Given the description of an element on the screen output the (x, y) to click on. 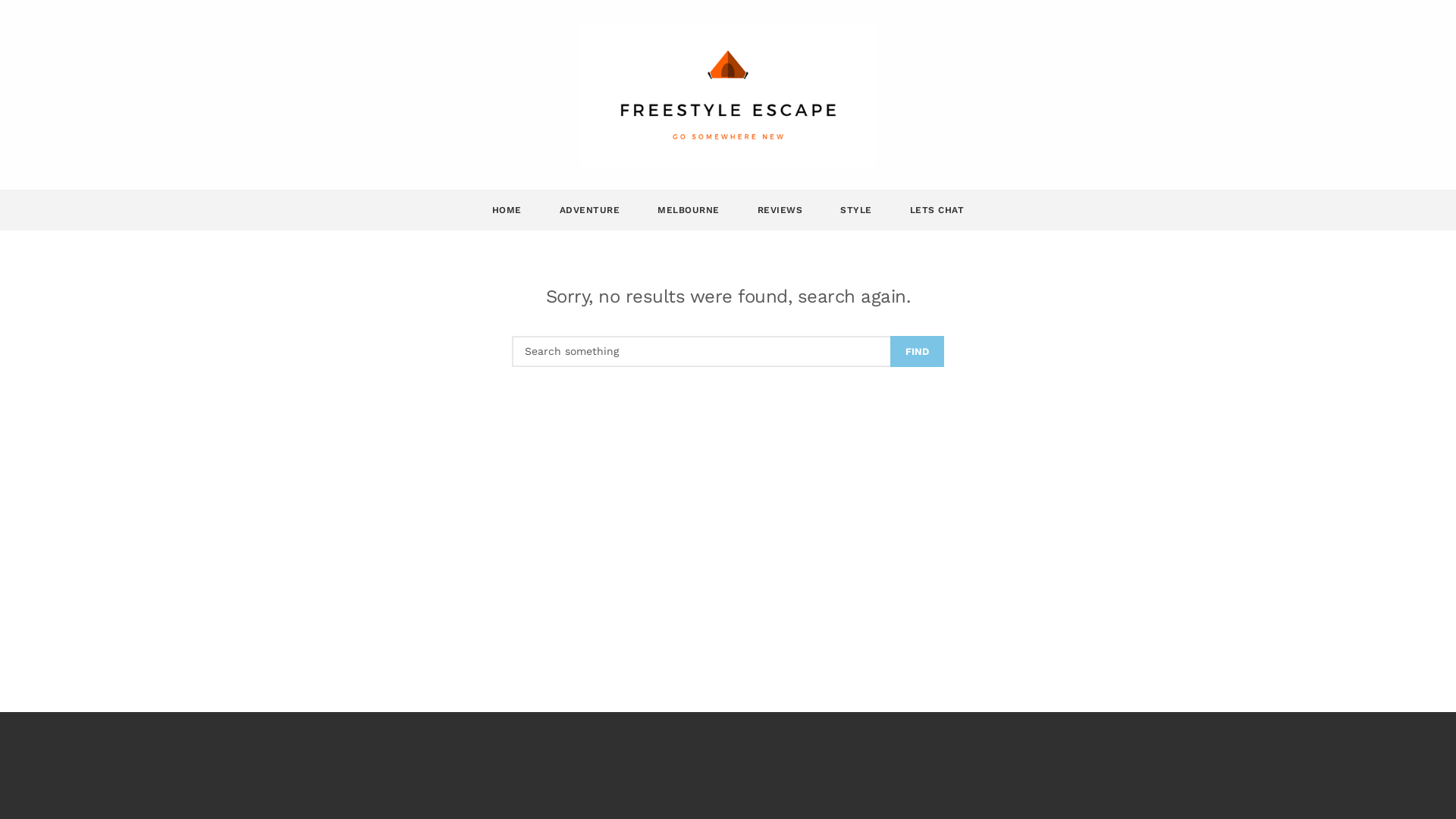
FIND Element type: text (917, 351)
REVIEWS Element type: text (780, 209)
STYLE Element type: text (855, 209)
LETS CHAT Element type: text (936, 209)
MELBOURNE Element type: text (688, 209)
ADVENTURE Element type: text (589, 209)
HOME Element type: text (506, 209)
